Given the description of an element on the screen output the (x, y) to click on. 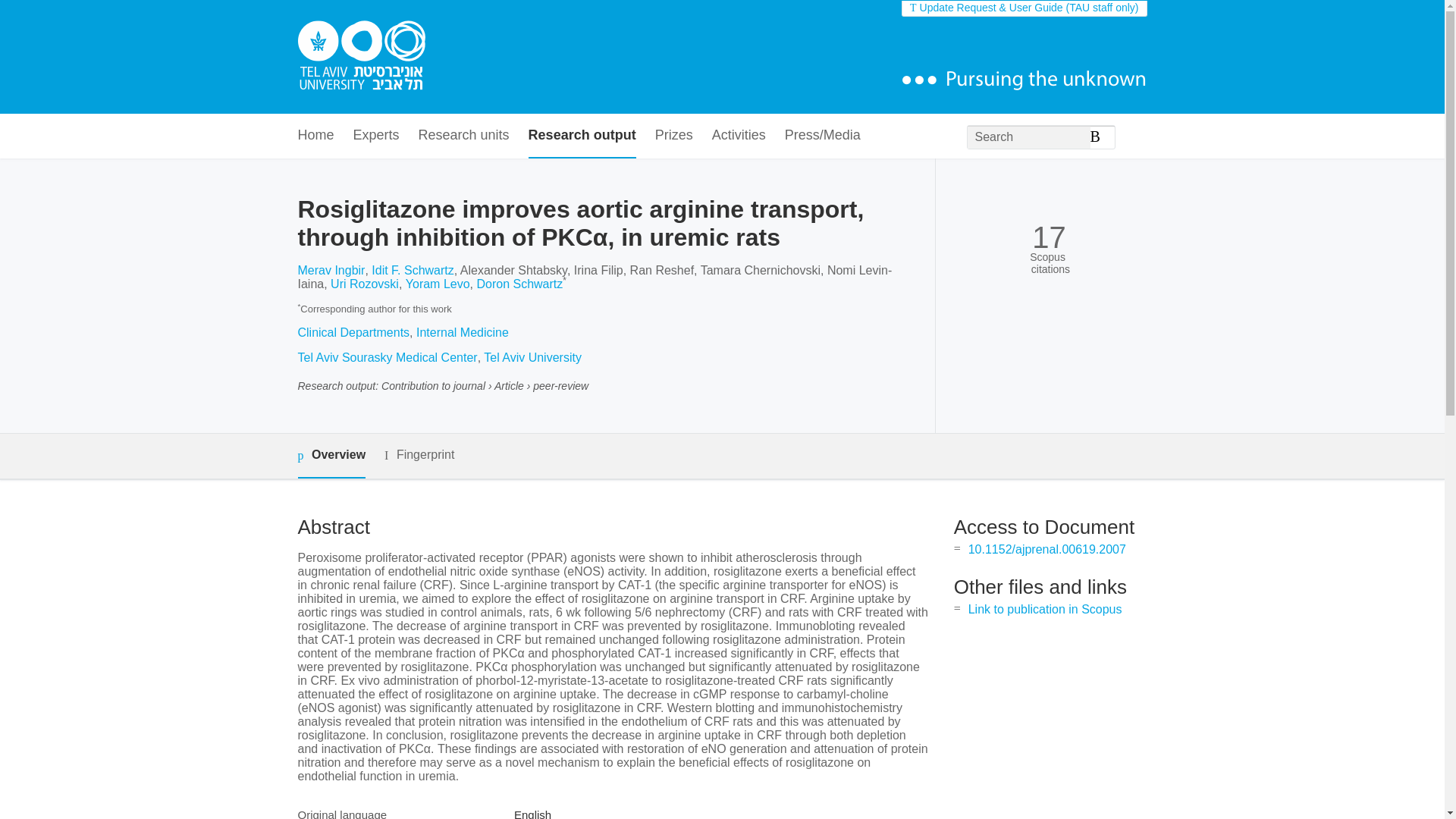
Fingerprint (419, 455)
Experts (375, 135)
Clinical Departments (353, 332)
Activities (738, 135)
Tel Aviv University Home (361, 56)
Yoram Levo (438, 283)
Internal Medicine (462, 332)
Doron Schwartz (519, 283)
Research units (464, 135)
Idit F. Schwartz (411, 269)
Tel Aviv University (531, 357)
Research output (582, 135)
Tel Aviv Sourasky Medical Center (387, 357)
Link to publication in Scopus (1045, 608)
